Given the description of an element on the screen output the (x, y) to click on. 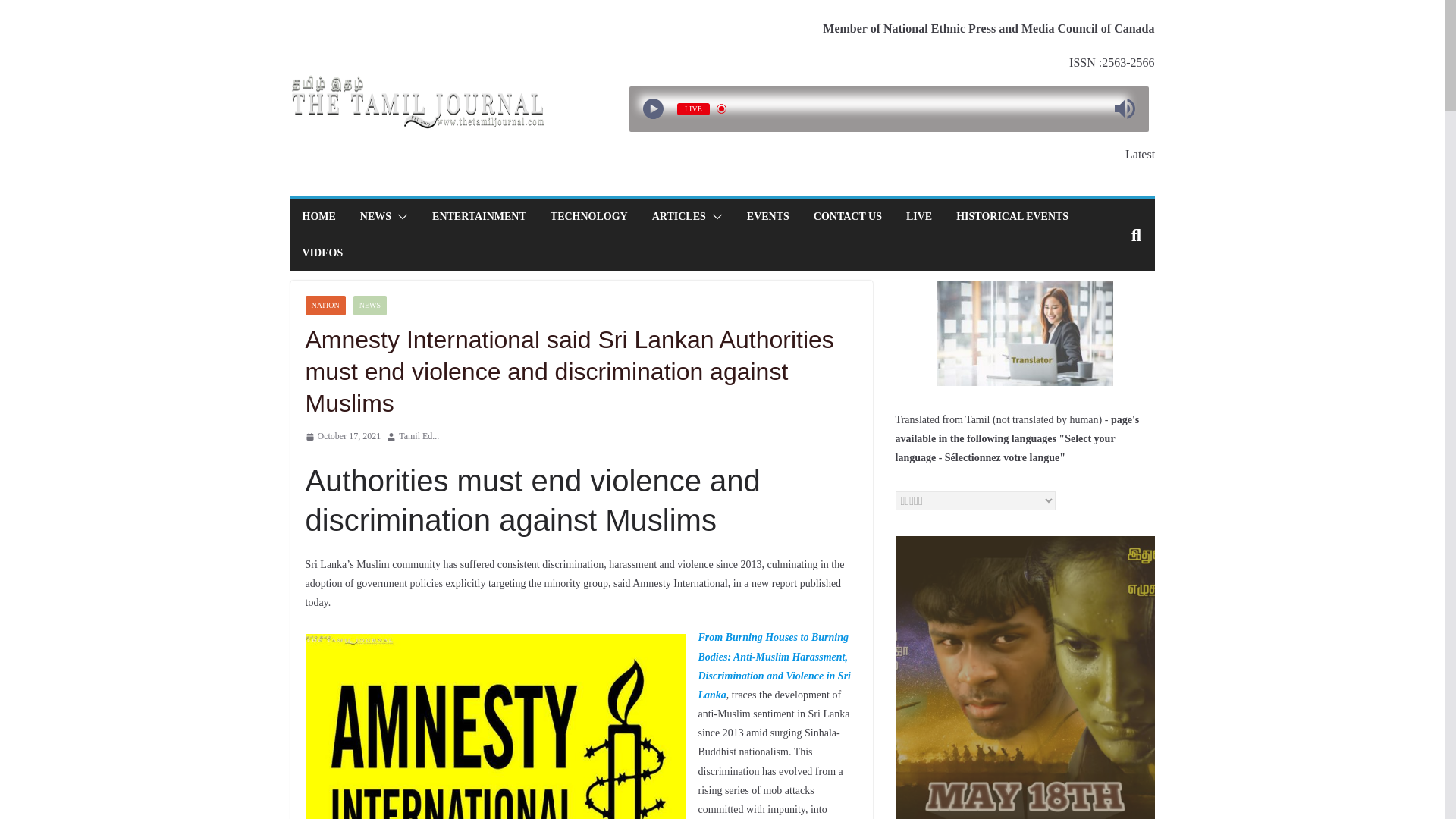
NEWS (375, 216)
Tamil Ed... (418, 436)
ARTICLES (679, 216)
Play (652, 108)
NATION (324, 305)
CONTACT US (847, 216)
VIDEOS (321, 252)
HISTORICAL EVENTS (1012, 216)
23:41 (342, 436)
ENTERTAINMENT (478, 216)
